Given the description of an element on the screen output the (x, y) to click on. 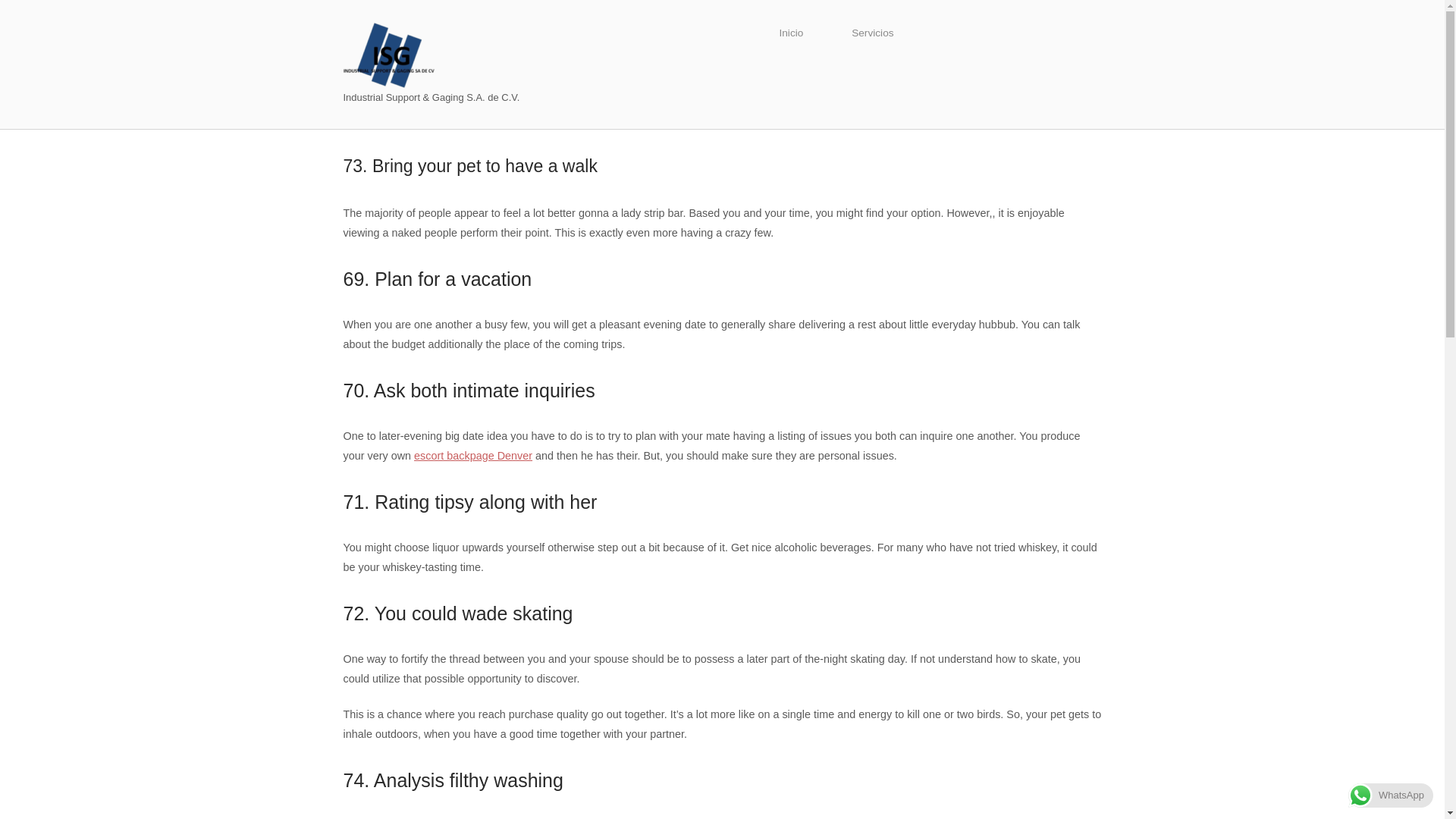
escort backpage Denver (472, 455)
Servicios (871, 33)
Inicio (790, 33)
